Given the description of an element on the screen output the (x, y) to click on. 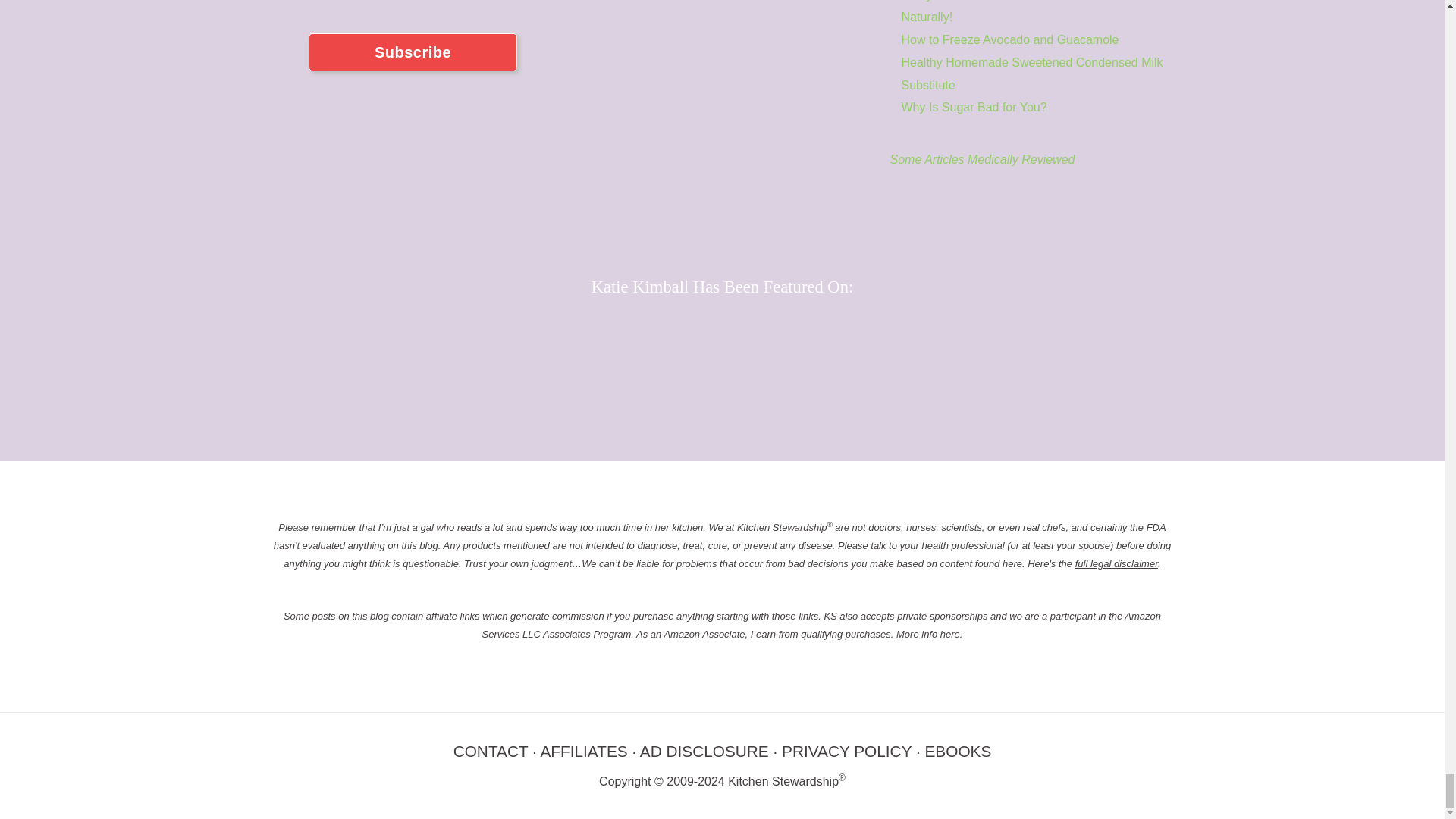
Katie Kimball of Kitchen Stewardship (722, 53)
